Given the description of an element on the screen output the (x, y) to click on. 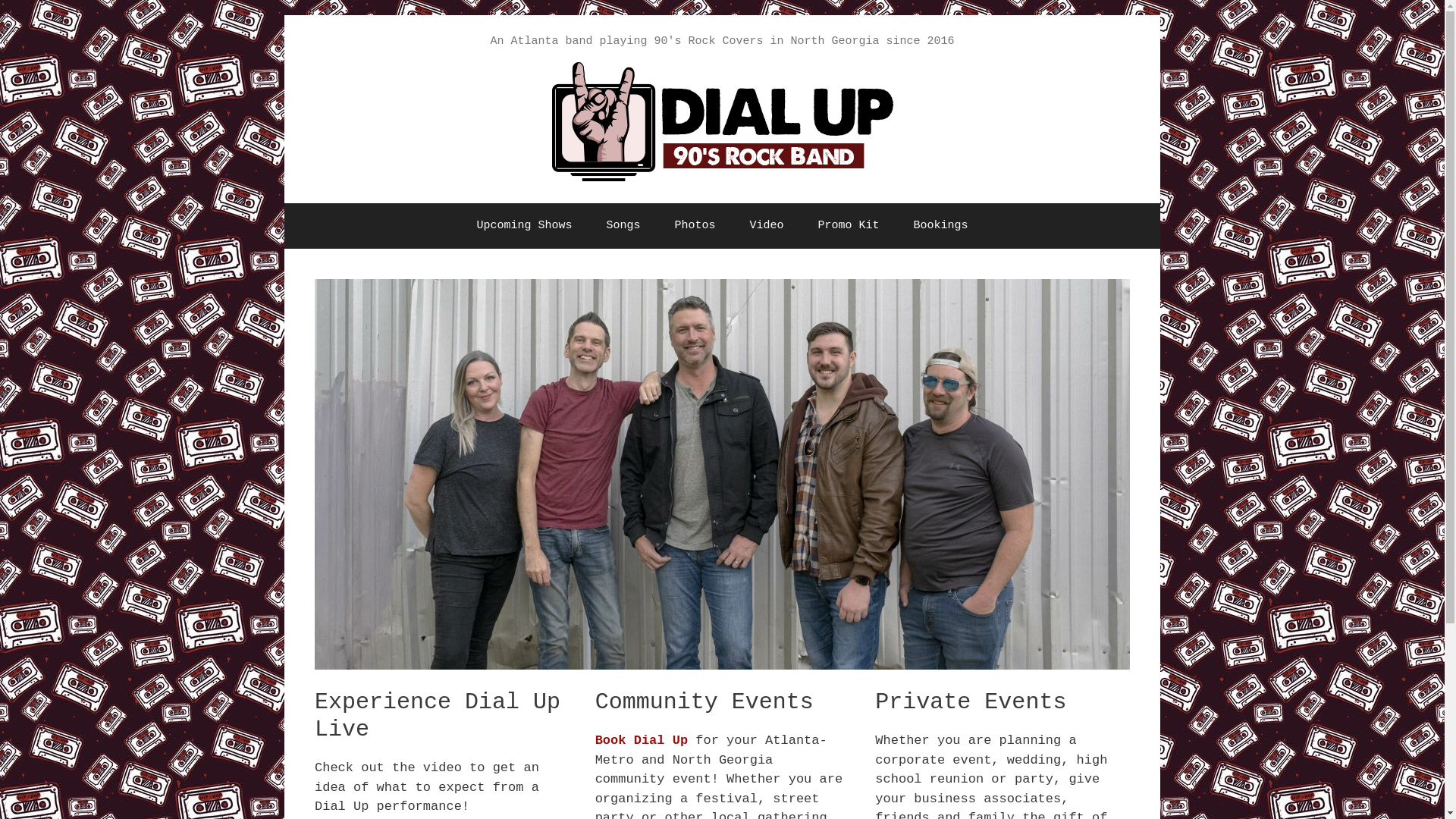
Photos Element type: text (695, 225)
Upcoming Shows Element type: text (524, 225)
Video Element type: text (766, 225)
Promo Kit Element type: text (848, 225)
Songs Element type: text (623, 225)
Bookings Element type: text (939, 225)
Book Dial Up Element type: text (641, 740)
